Given the description of an element on the screen output the (x, y) to click on. 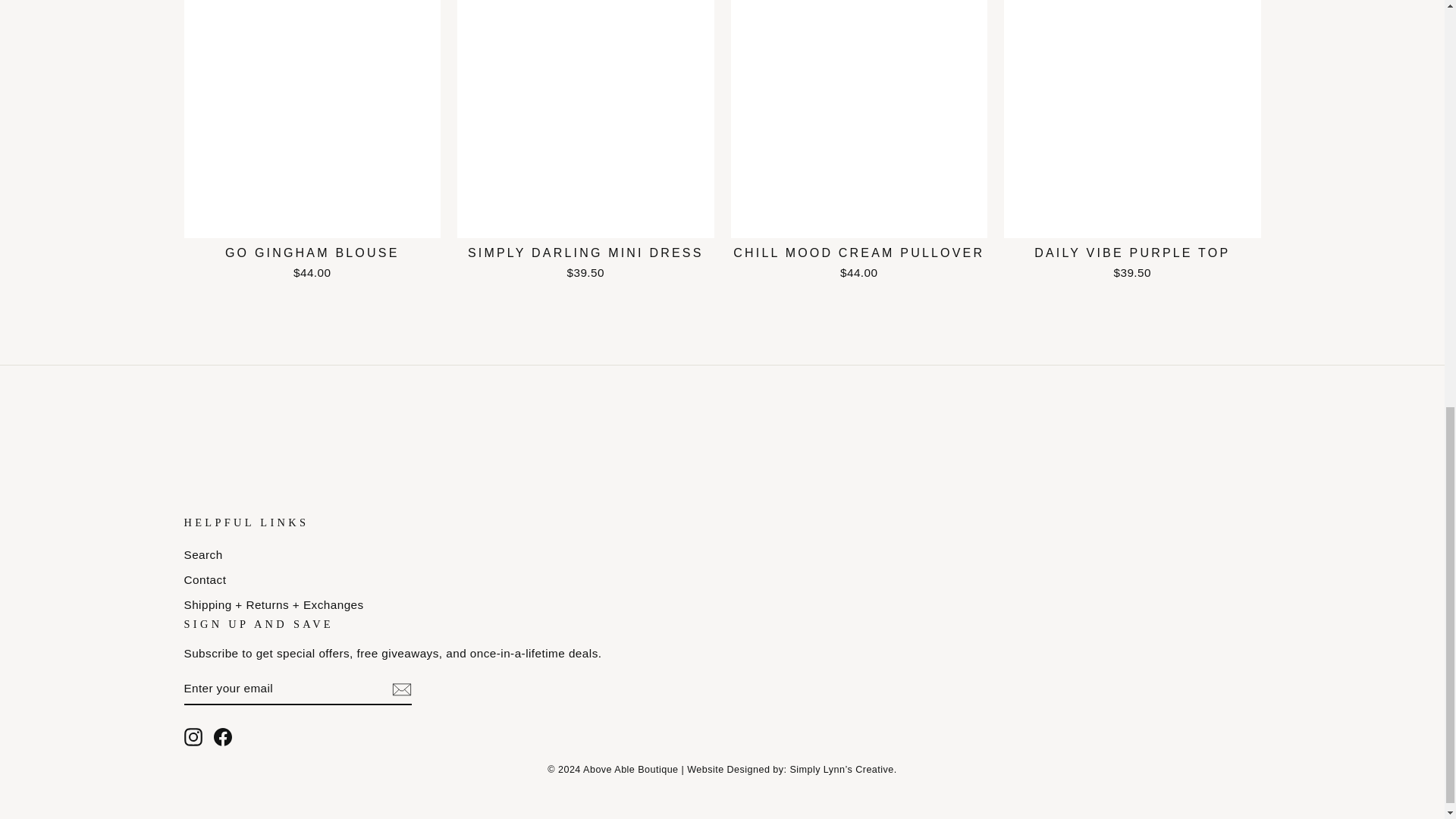
instagram (192, 737)
icon-email (400, 689)
Above Able Boutique on Facebook (222, 737)
Above Able Boutique on Instagram (192, 737)
